Given the description of an element on the screen output the (x, y) to click on. 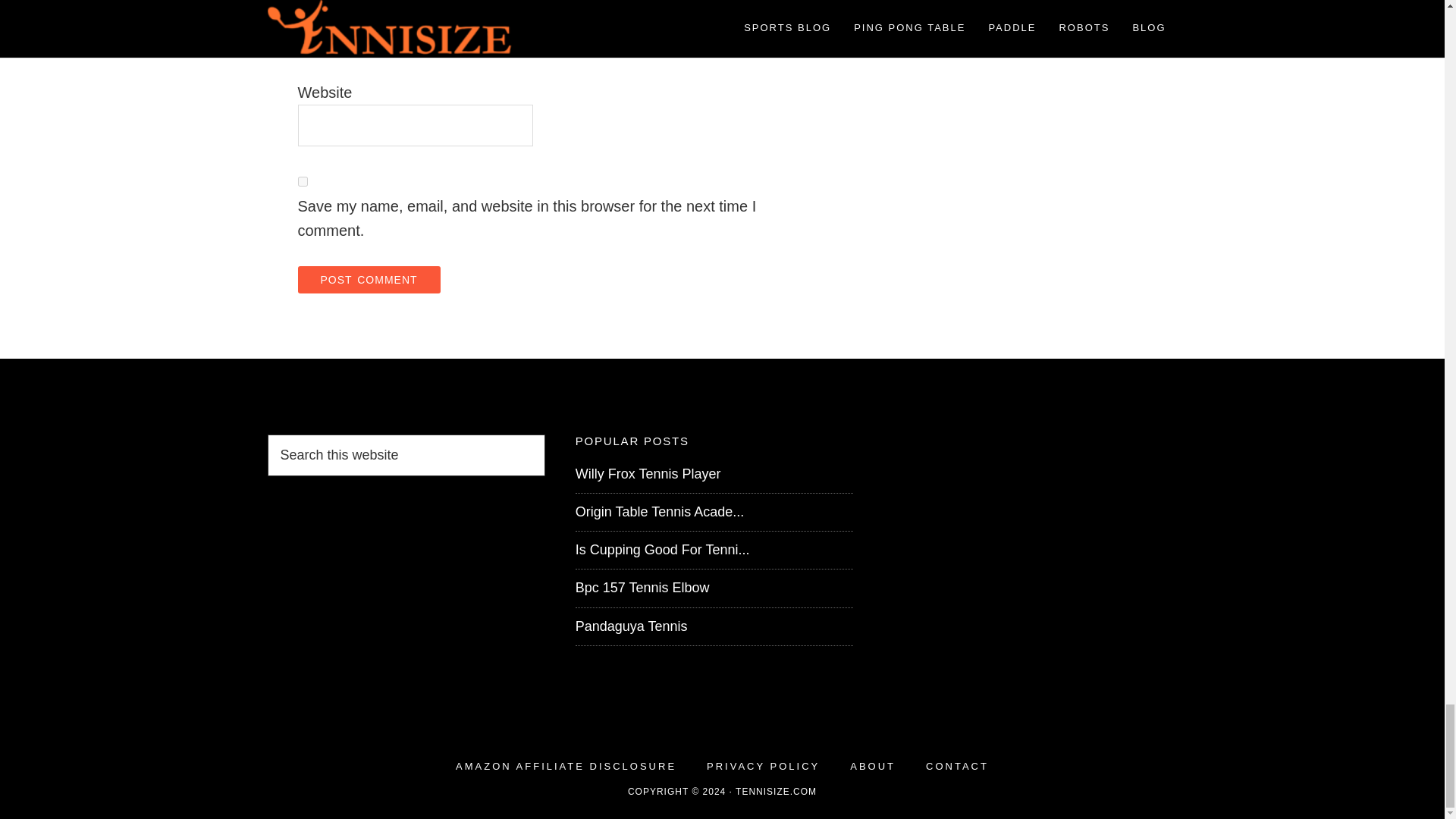
Willy Frox Tennis Player (647, 473)
CONTACT (957, 766)
AMAZON AFFILIATE DISCLOSURE (566, 766)
Is Cupping Good For Tenni... (662, 549)
Origin Table Tennis Acade... (659, 511)
Is Cupping Good For Tennis Elbow (662, 549)
Pandaguya Tennis (631, 626)
ABOUT (872, 766)
Origin Table Tennis Academy (659, 511)
yes (302, 181)
PRIVACY POLICY (762, 766)
Post Comment (368, 279)
